Given the description of an element on the screen output the (x, y) to click on. 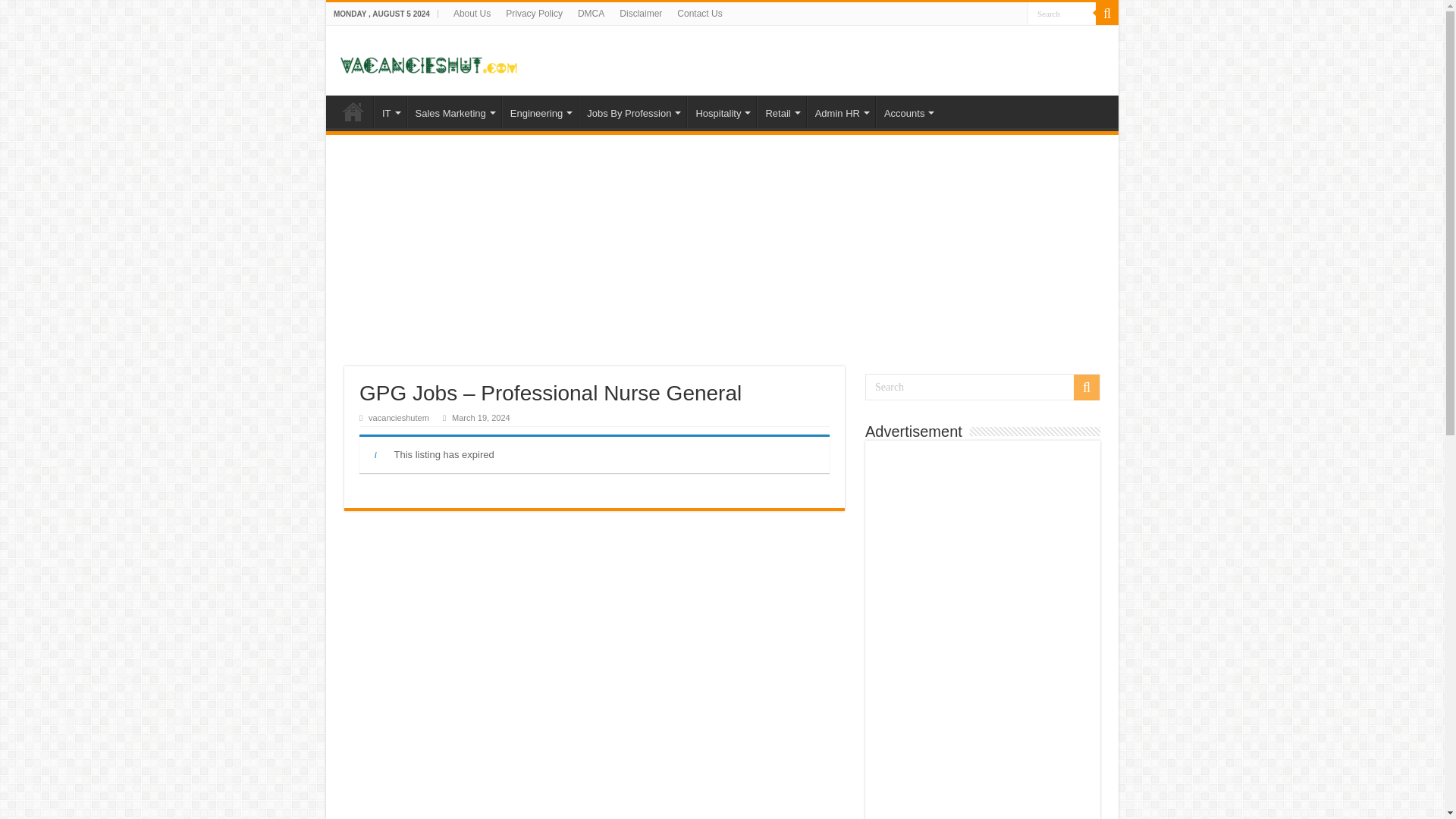
Search (1061, 13)
Vacancieshut (428, 58)
Search (982, 386)
Search (1061, 13)
Search (1061, 13)
